Given the description of an element on the screen output the (x, y) to click on. 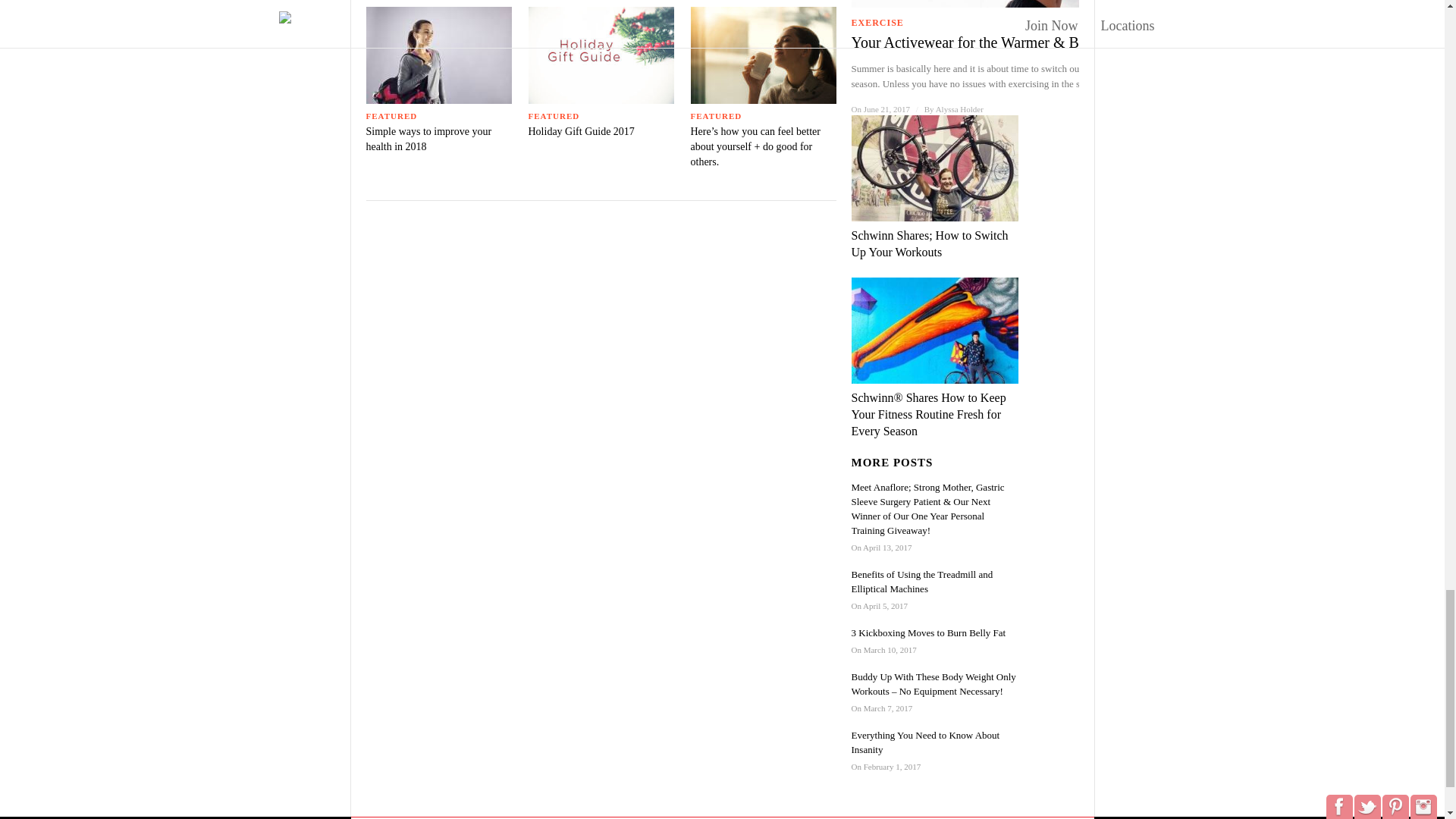
Permanent Link: Holiday Gift Guide 2017 (580, 131)
FEATURED (390, 115)
Permanent Link: Simple ways to improve your health in 2018 (428, 139)
FEATURED (553, 115)
FEATURED (715, 115)
Simple ways to improve your health in 2018 (428, 139)
Holiday Gift Guide 2017 (580, 131)
